Given the description of an element on the screen output the (x, y) to click on. 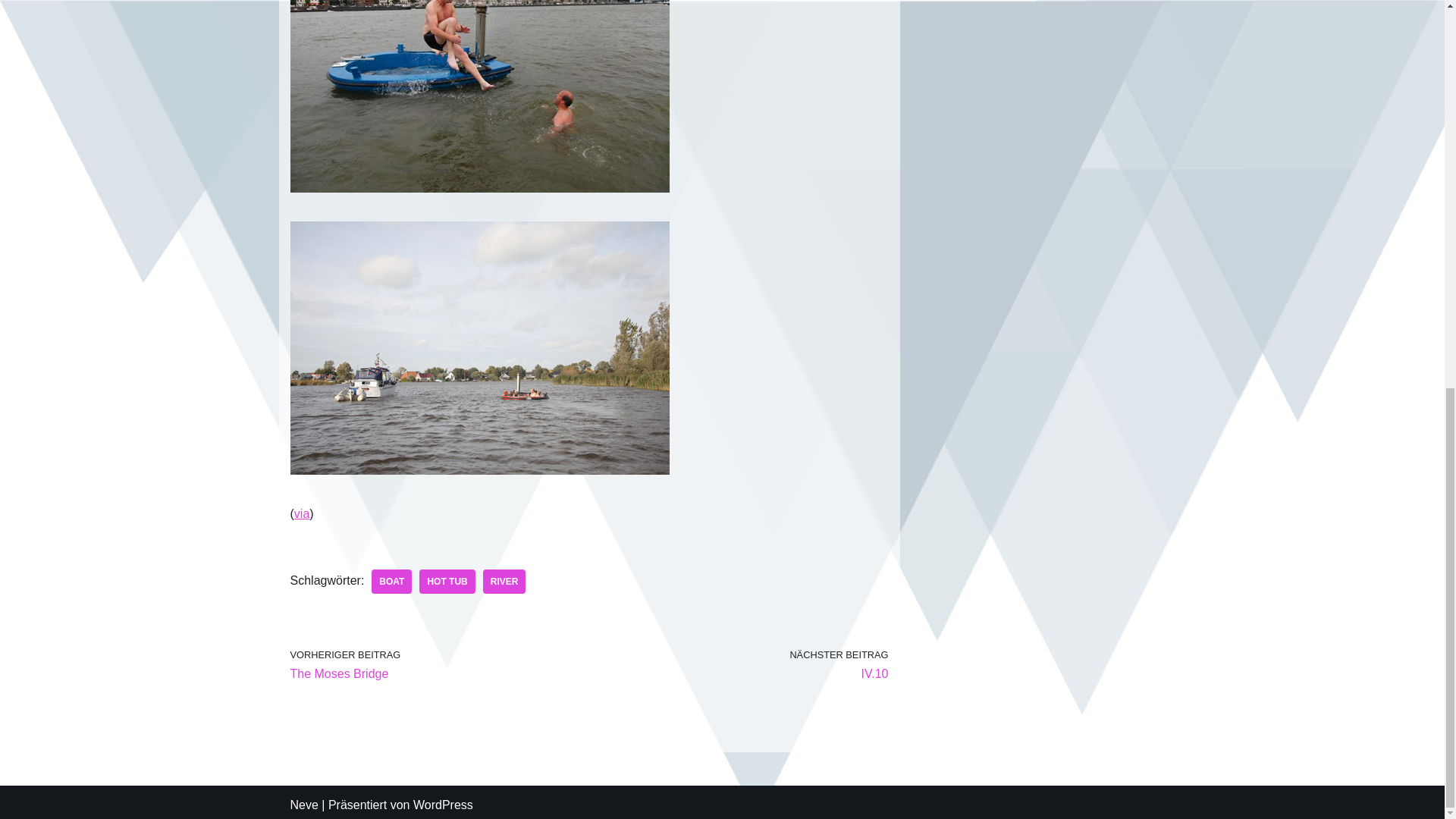
The Hot Tug Hot Tub Boat  (478, 96)
hot tub (446, 581)
river (504, 581)
BOAT (391, 581)
The Hot Tug Hot Tub Boat  (478, 348)
RIVER (504, 581)
HOT TUB (446, 581)
via (434, 665)
boat (301, 513)
